Given the description of an element on the screen output the (x, y) to click on. 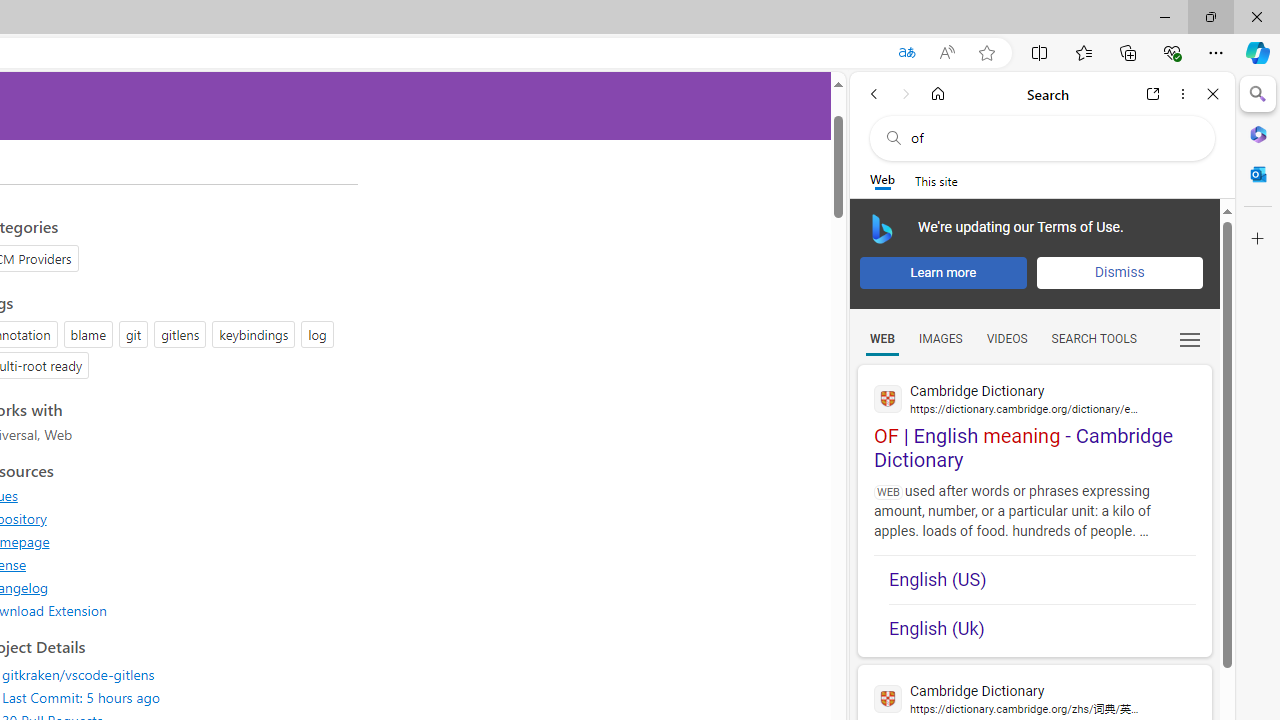
Web scope (882, 180)
English (US) (1042, 579)
IMAGES (939, 339)
Search the web (1051, 137)
To get missing image descriptions, open the context menu. (882, 228)
English (US) (1042, 579)
Cambridge Dictionary (1034, 698)
Class: b_serphb (1190, 339)
